Given the description of an element on the screen output the (x, y) to click on. 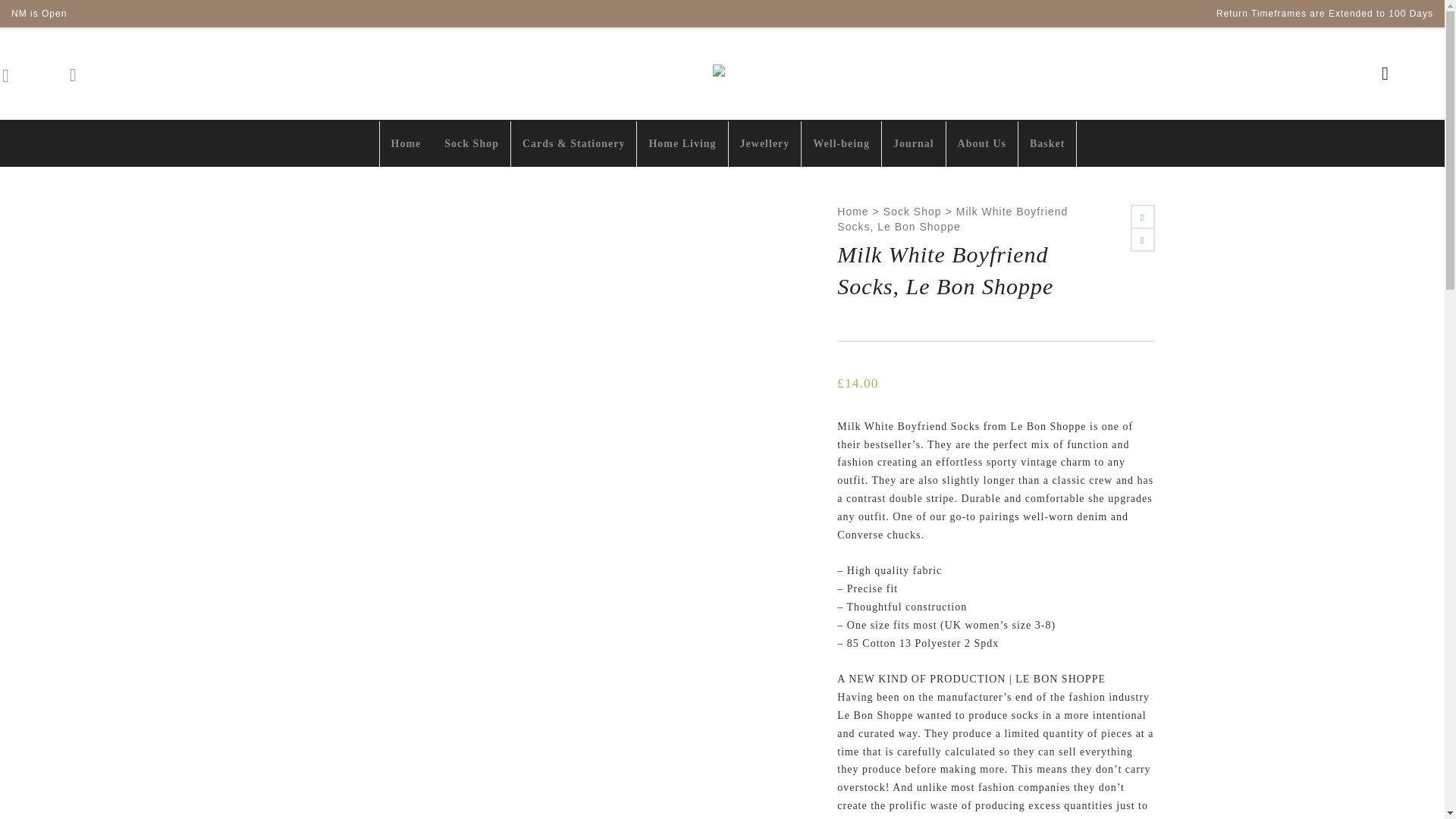
Sock Shop (471, 144)
0 (10, 73)
Home (406, 144)
Jewellery (765, 144)
Well-being (841, 144)
About Us (981, 144)
Journal (913, 144)
Basket (1046, 144)
View your shopping cart (10, 73)
Sock Shop (912, 212)
Home Living (681, 144)
Home (852, 212)
